Given the description of an element on the screen output the (x, y) to click on. 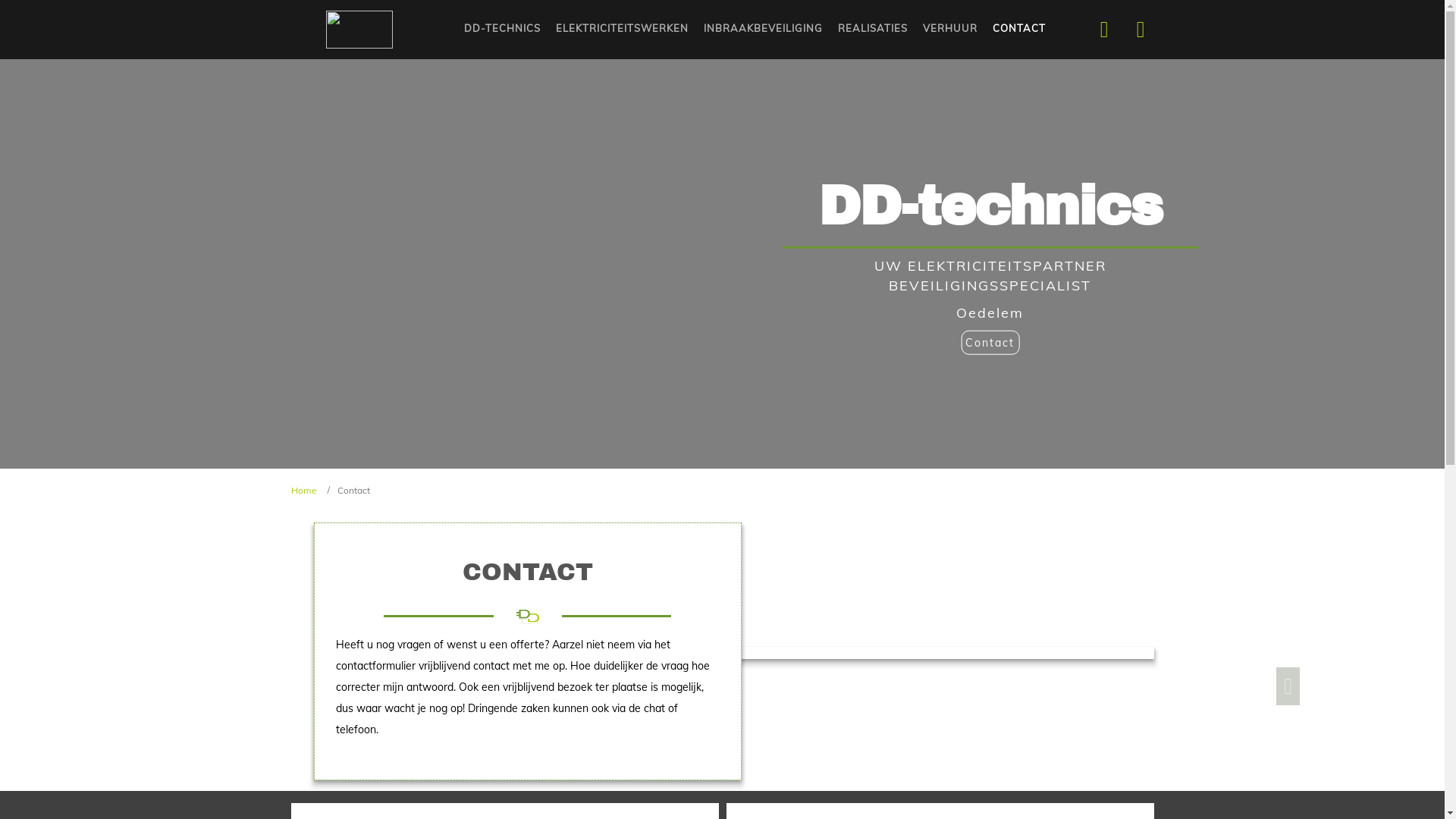
Contact Element type: text (989, 341)
CONTACT Element type: text (1019, 28)
ELEKTRICITEITSWERKEN Element type: text (622, 28)
VERHUUR Element type: text (950, 28)
INBRAAKBEVEILIGING Element type: text (763, 28)
DD-TECHNICS Element type: text (502, 28)
Home Element type: text (303, 489)
REALISATIES Element type: text (872, 28)
